Given the description of an element on the screen output the (x, y) to click on. 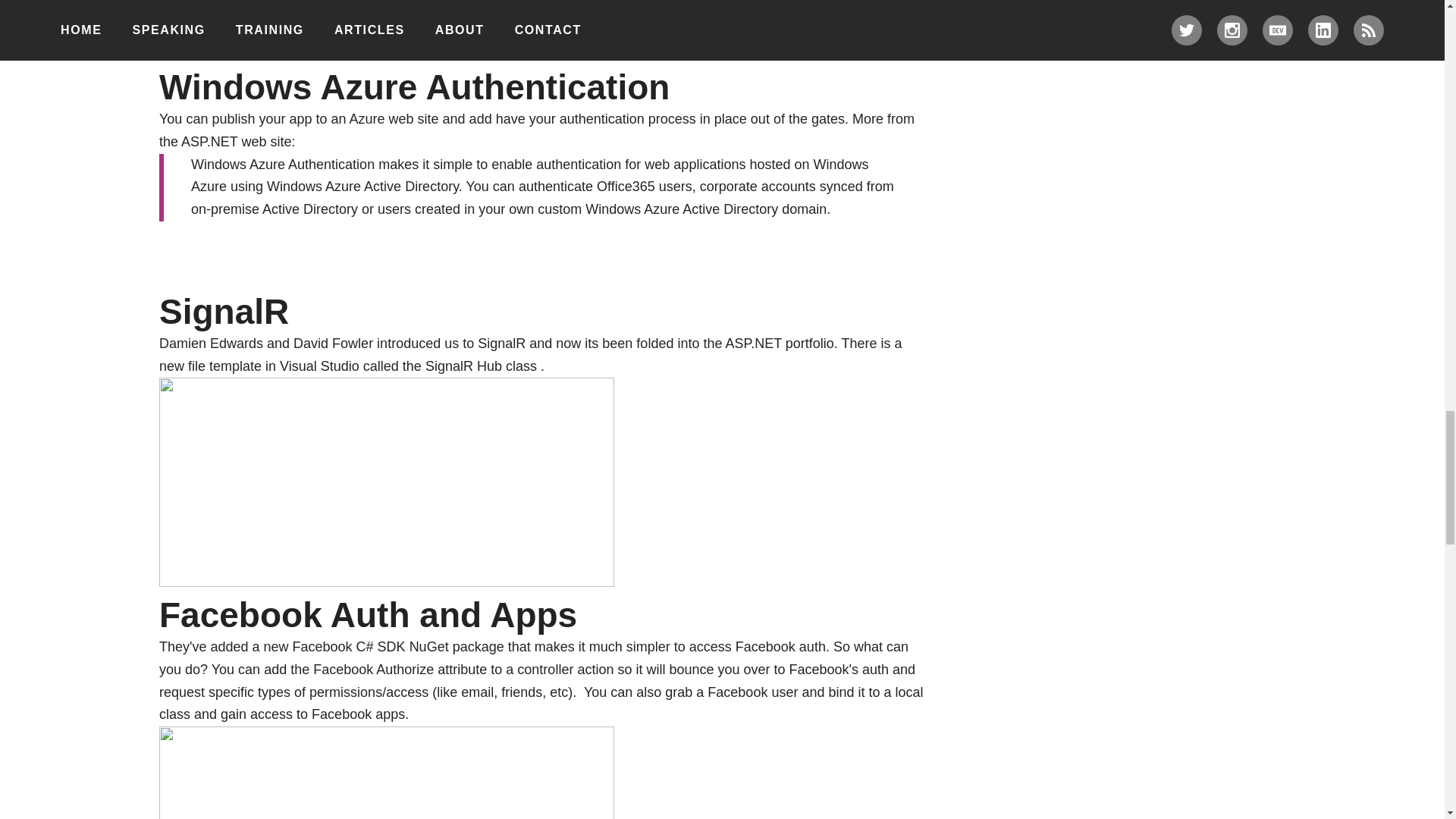
SignalR (501, 343)
next page (386, 28)
facebook (386, 772)
signalR hub class template (386, 482)
